Given the description of an element on the screen output the (x, y) to click on. 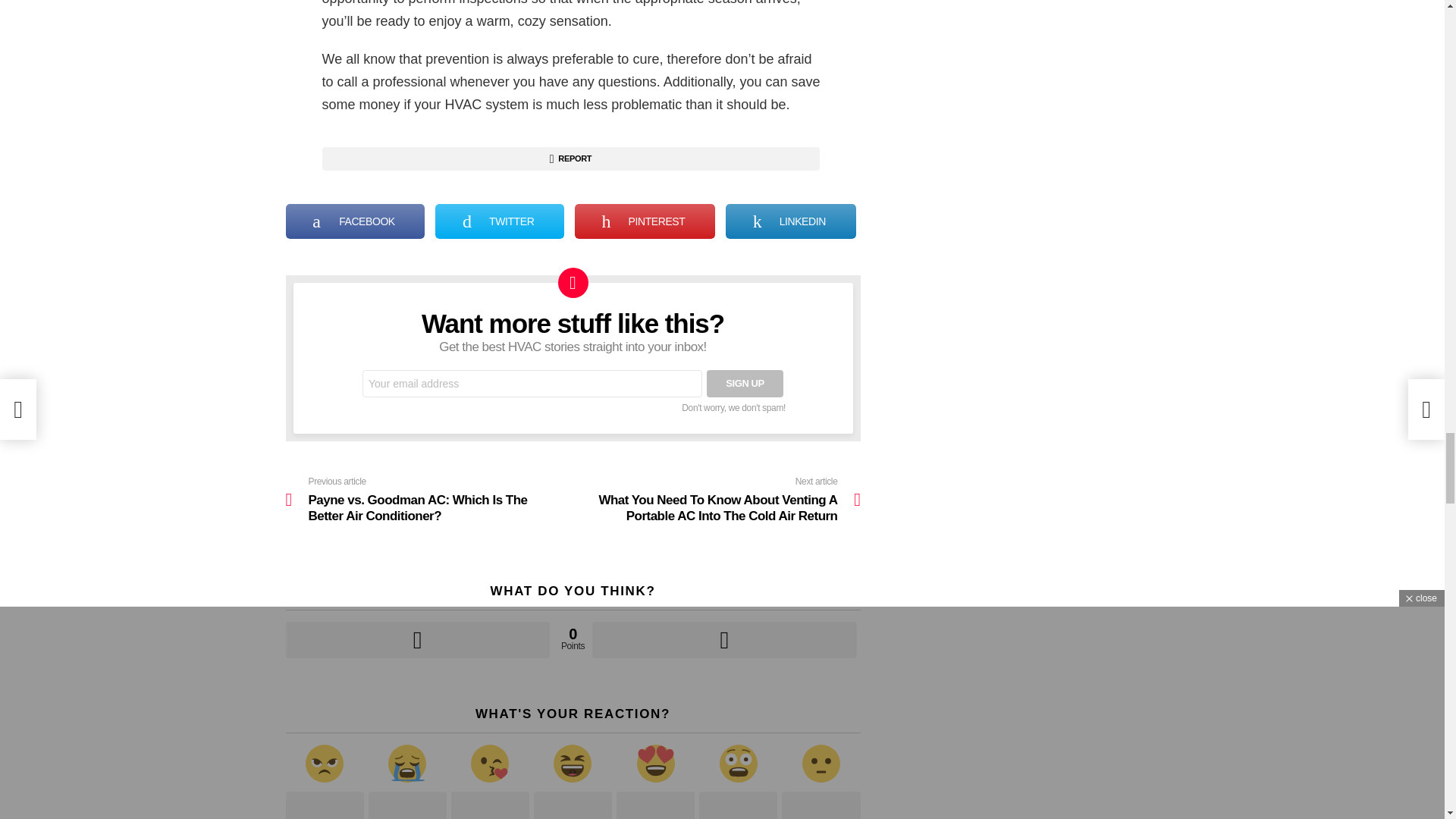
Sign up (744, 383)
